Given the description of an element on the screen output the (x, y) to click on. 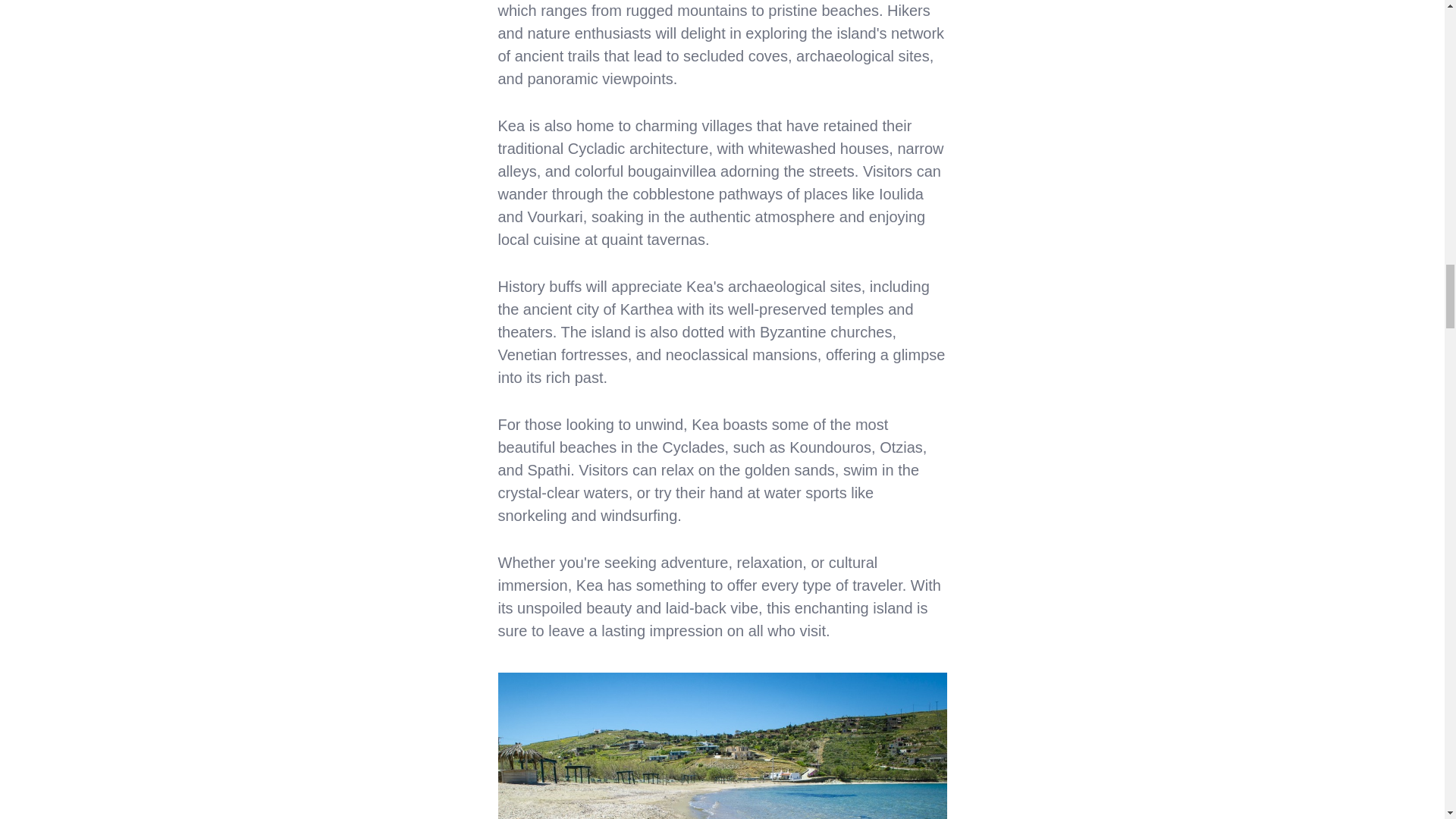
Kea view (721, 745)
